Given the description of an element on the screen output the (x, y) to click on. 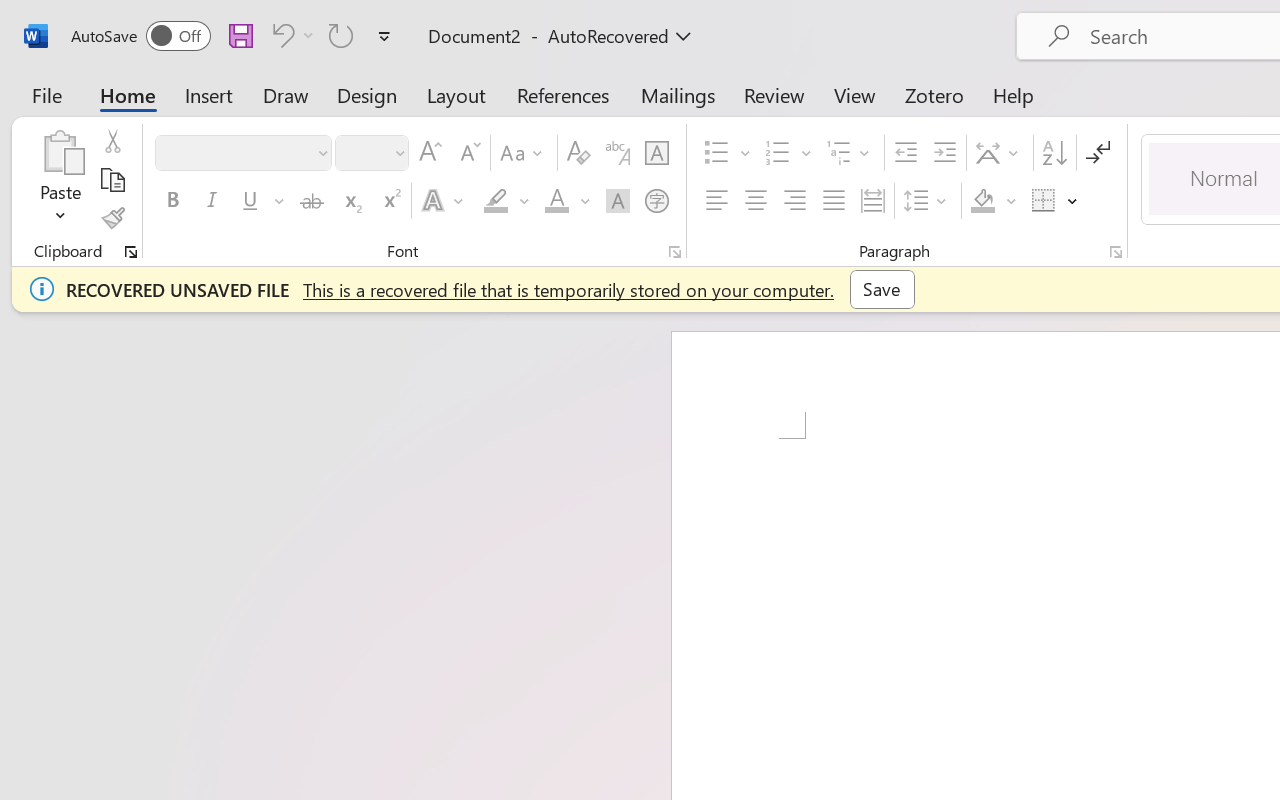
Bold (172, 201)
Office Clipboard... (131, 252)
Multilevel List (850, 153)
Change Case (524, 153)
Copy (112, 179)
Increase Indent (944, 153)
Distributed (872, 201)
Shading (993, 201)
Paragraph... (1115, 252)
